Given the description of an element on the screen output the (x, y) to click on. 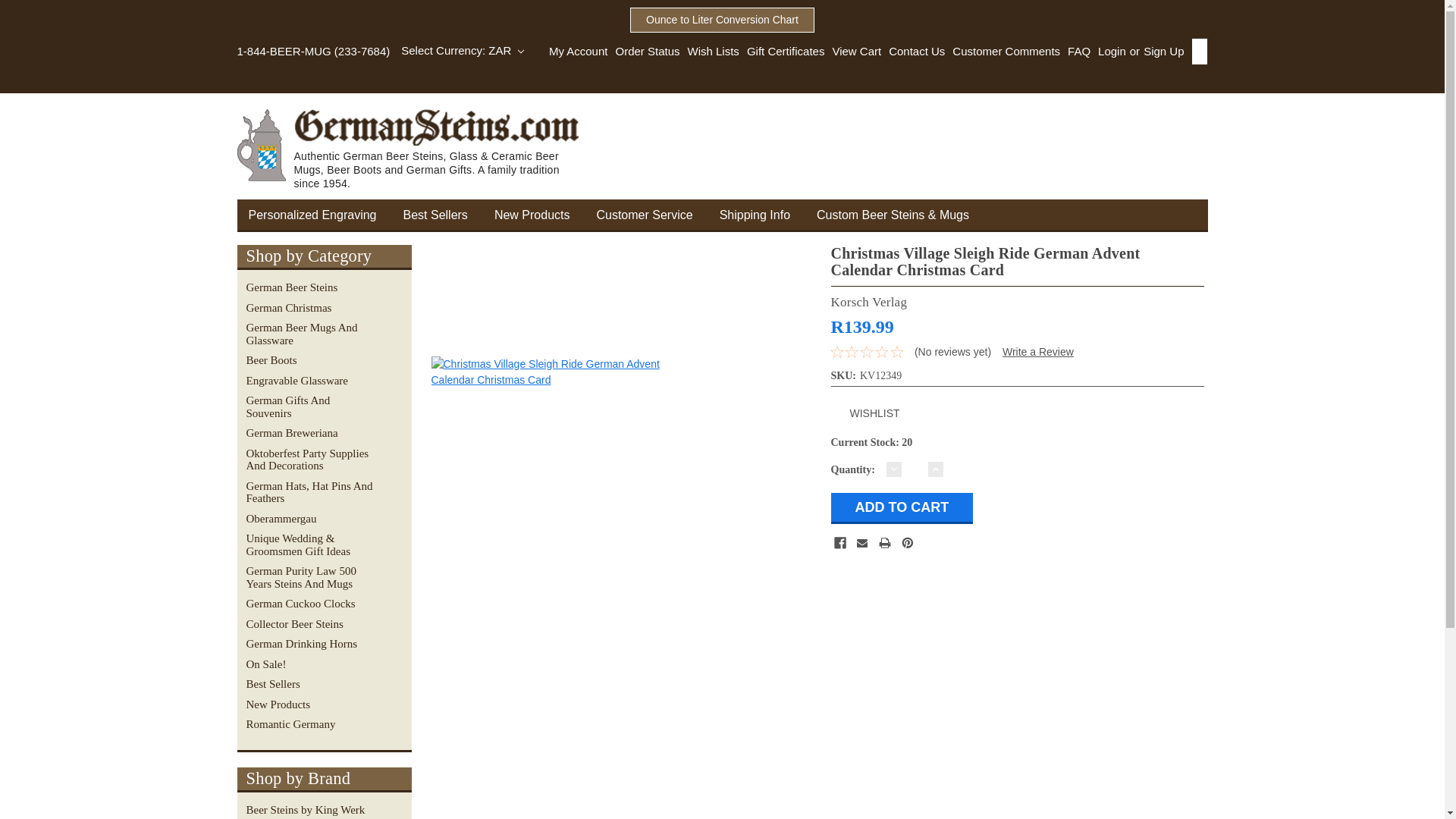
German beer steins, boots, mugs, glasses and other gifts (415, 149)
FAQ (1074, 51)
Customer Comments (1001, 51)
Wish Lists (709, 51)
Contact Us (912, 51)
Gift Certificates (782, 51)
View Cart (852, 51)
1 (914, 468)
My Account (578, 51)
Ounce to Liter Conversion Chart (721, 19)
Sign Up (1161, 51)
